Given the description of an element on the screen output the (x, y) to click on. 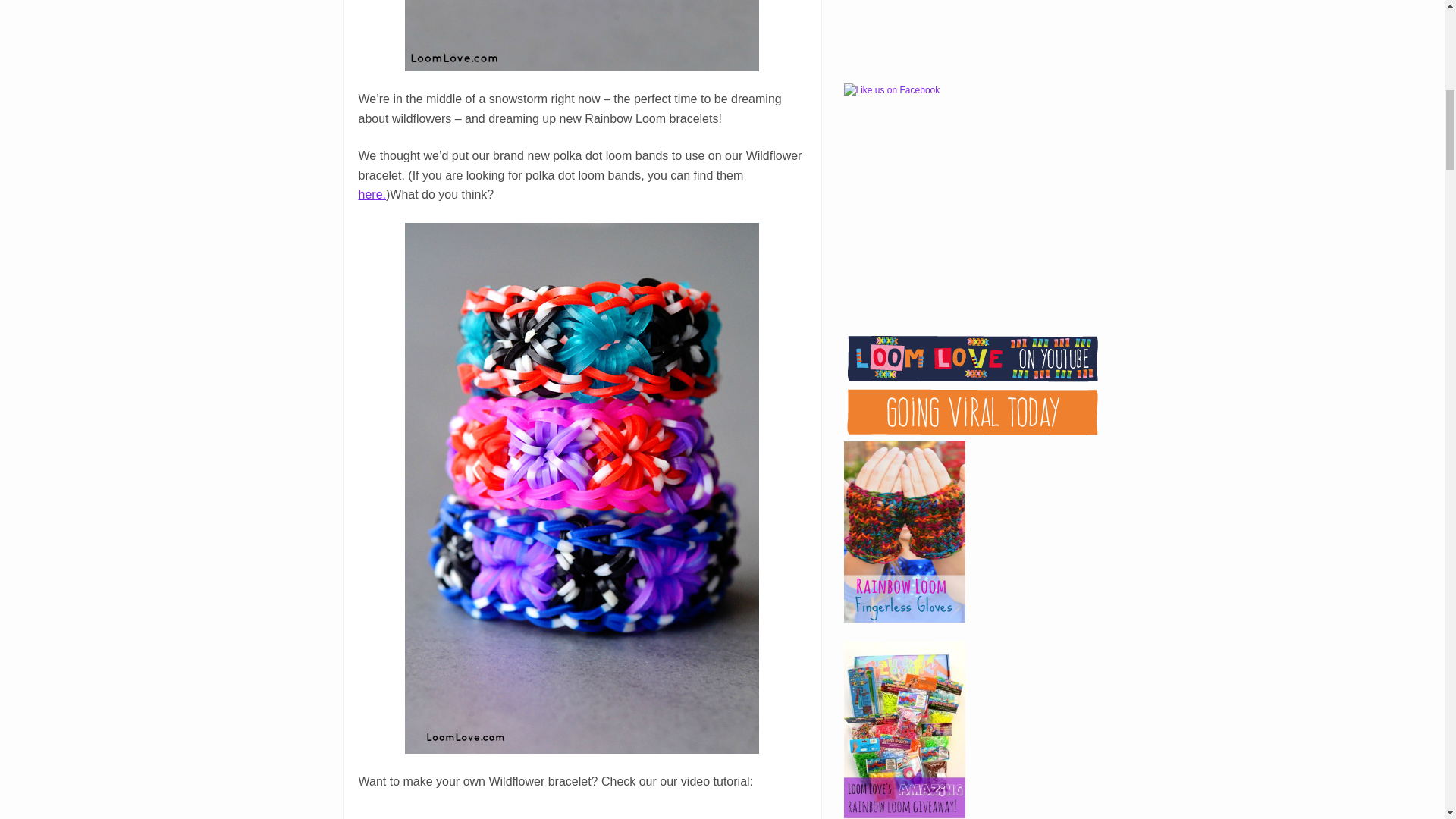
Advertisement (970, 37)
here. (371, 194)
